Given the description of an element on the screen output the (x, y) to click on. 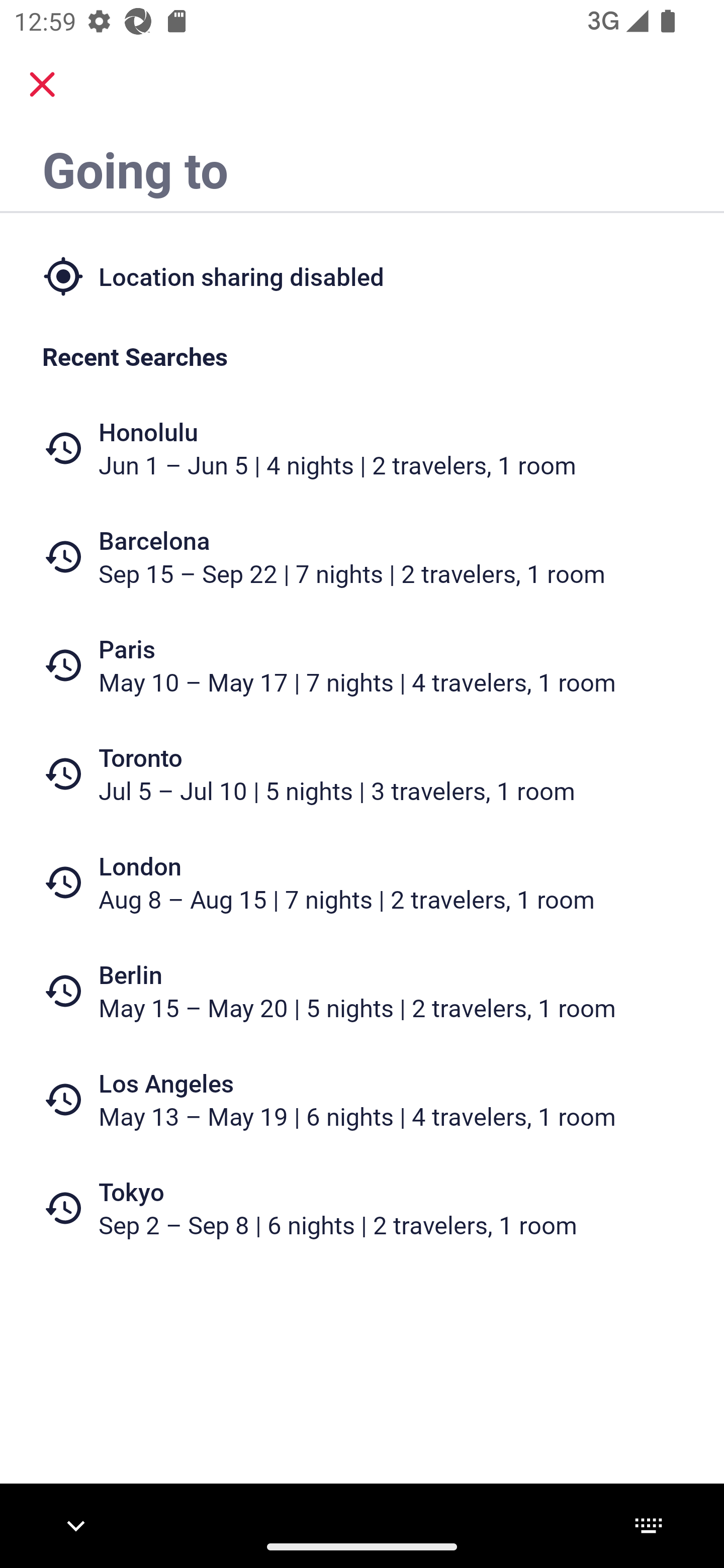
close. (42, 84)
Location sharing disabled (362, 275)
